Given the description of an element on the screen output the (x, y) to click on. 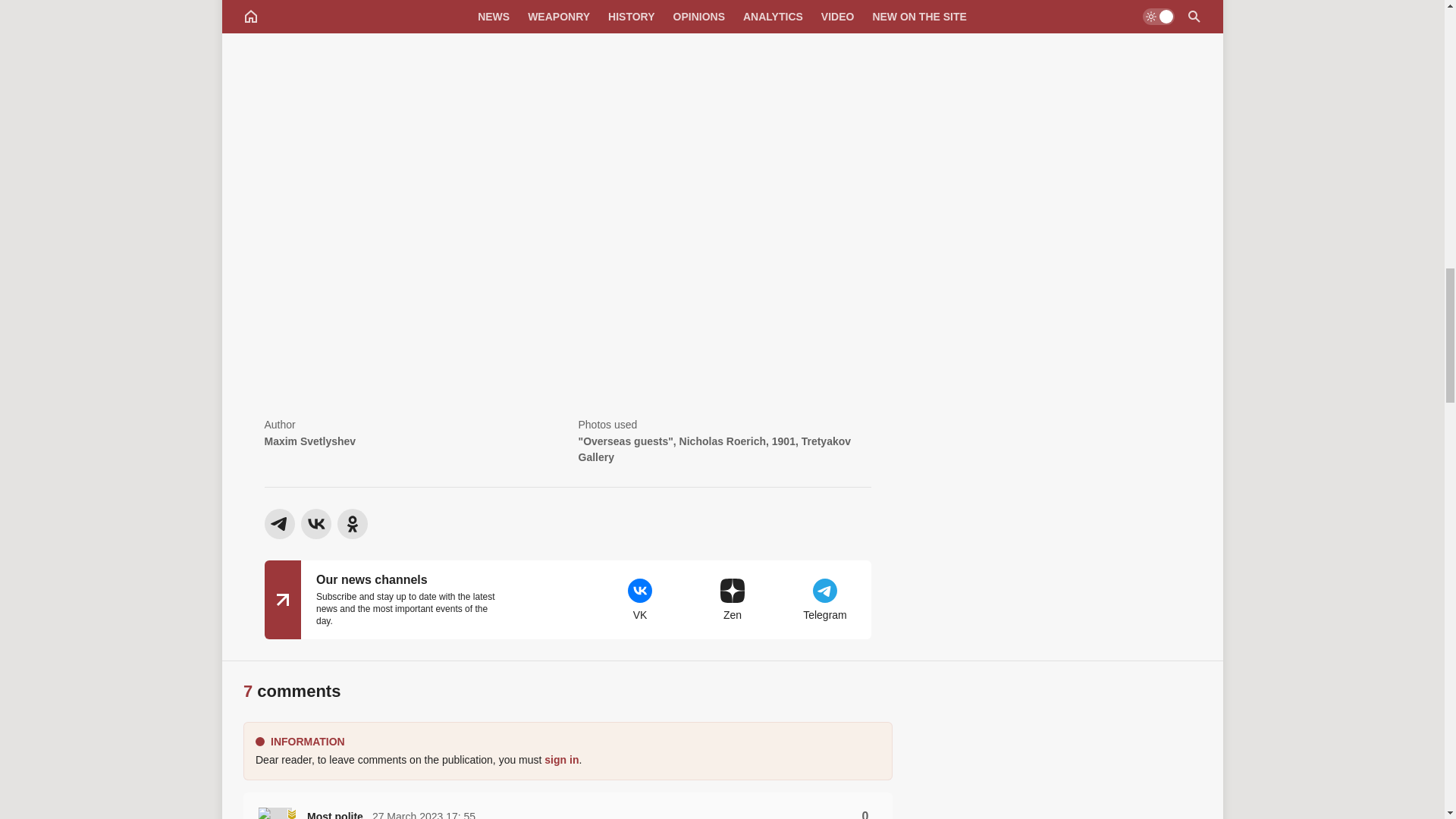
Photos used (724, 442)
Author (409, 442)
